Given the description of an element on the screen output the (x, y) to click on. 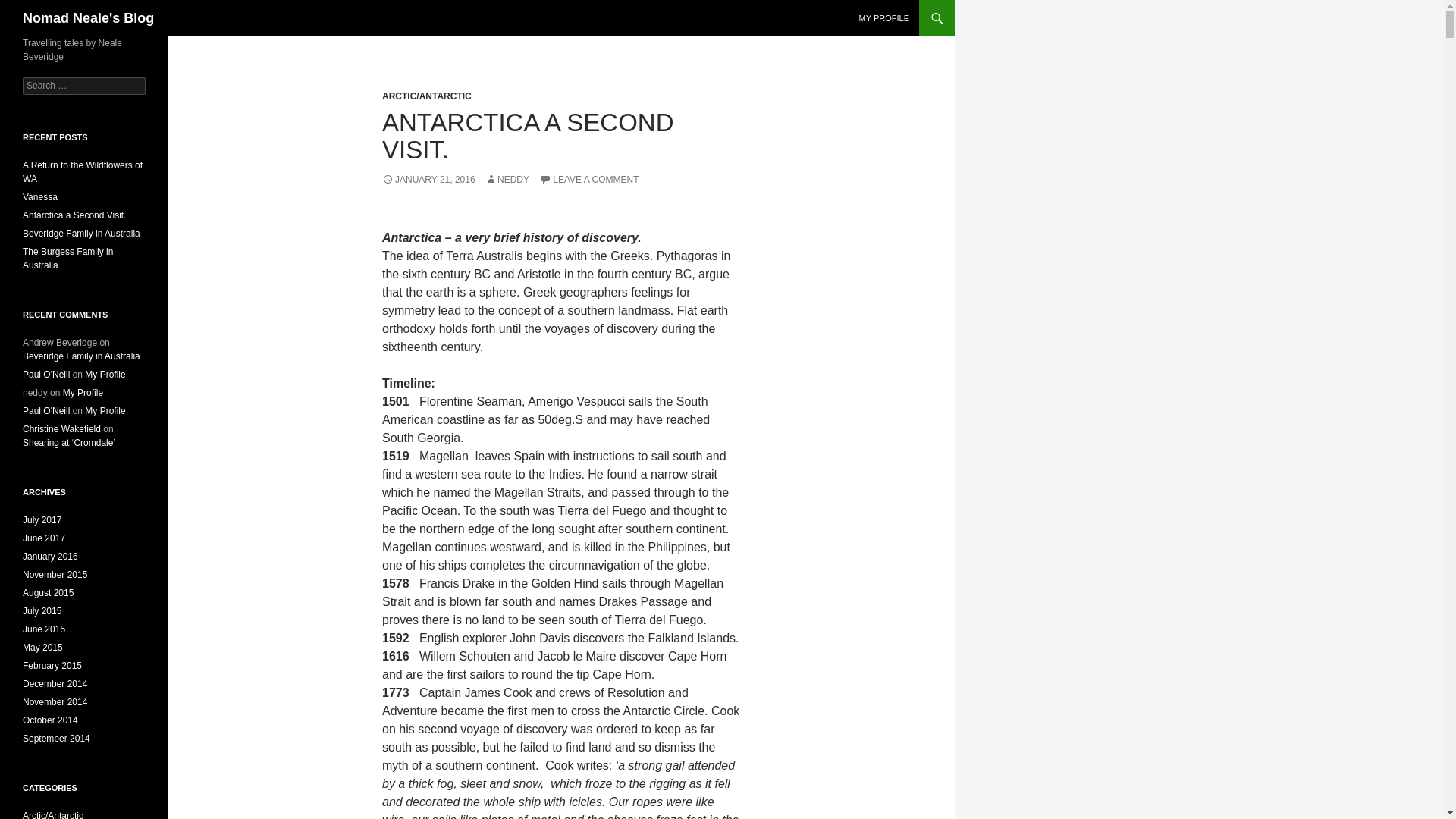
Nomad Neale's Blog (88, 18)
NEDDY (506, 179)
JANUARY 21, 2016 (428, 179)
LEAVE A COMMENT (588, 179)
MY PROFILE (884, 18)
